Given the description of an element on the screen output the (x, y) to click on. 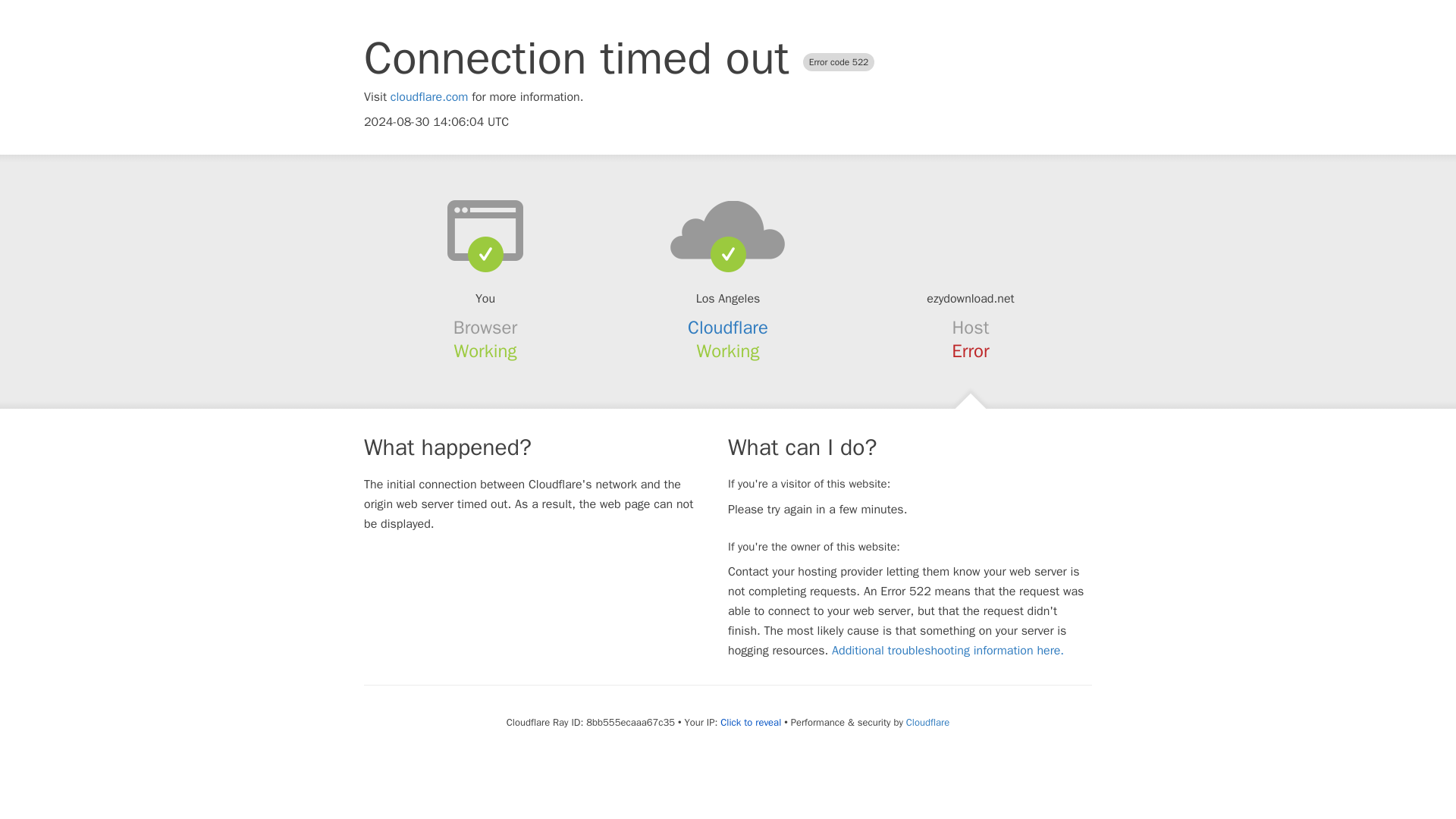
Cloudflare (927, 721)
Click to reveal (750, 722)
cloudflare.com (429, 96)
Additional troubleshooting information here. (947, 650)
Cloudflare (727, 327)
